Given the description of an element on the screen output the (x, y) to click on. 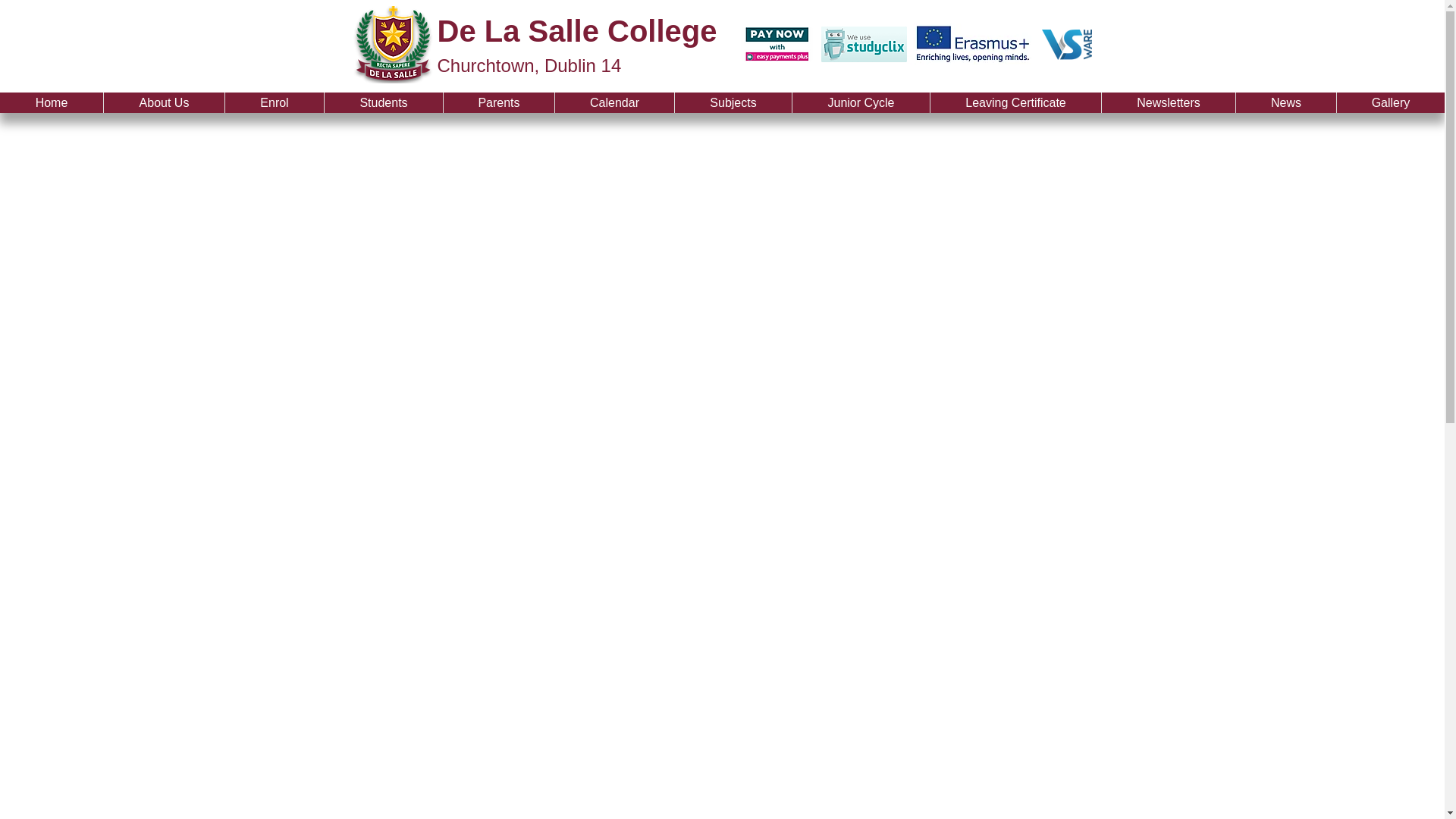
Calendar (614, 102)
Home (51, 102)
Enrol (273, 102)
Subjects (733, 102)
